Given the description of an element on the screen output the (x, y) to click on. 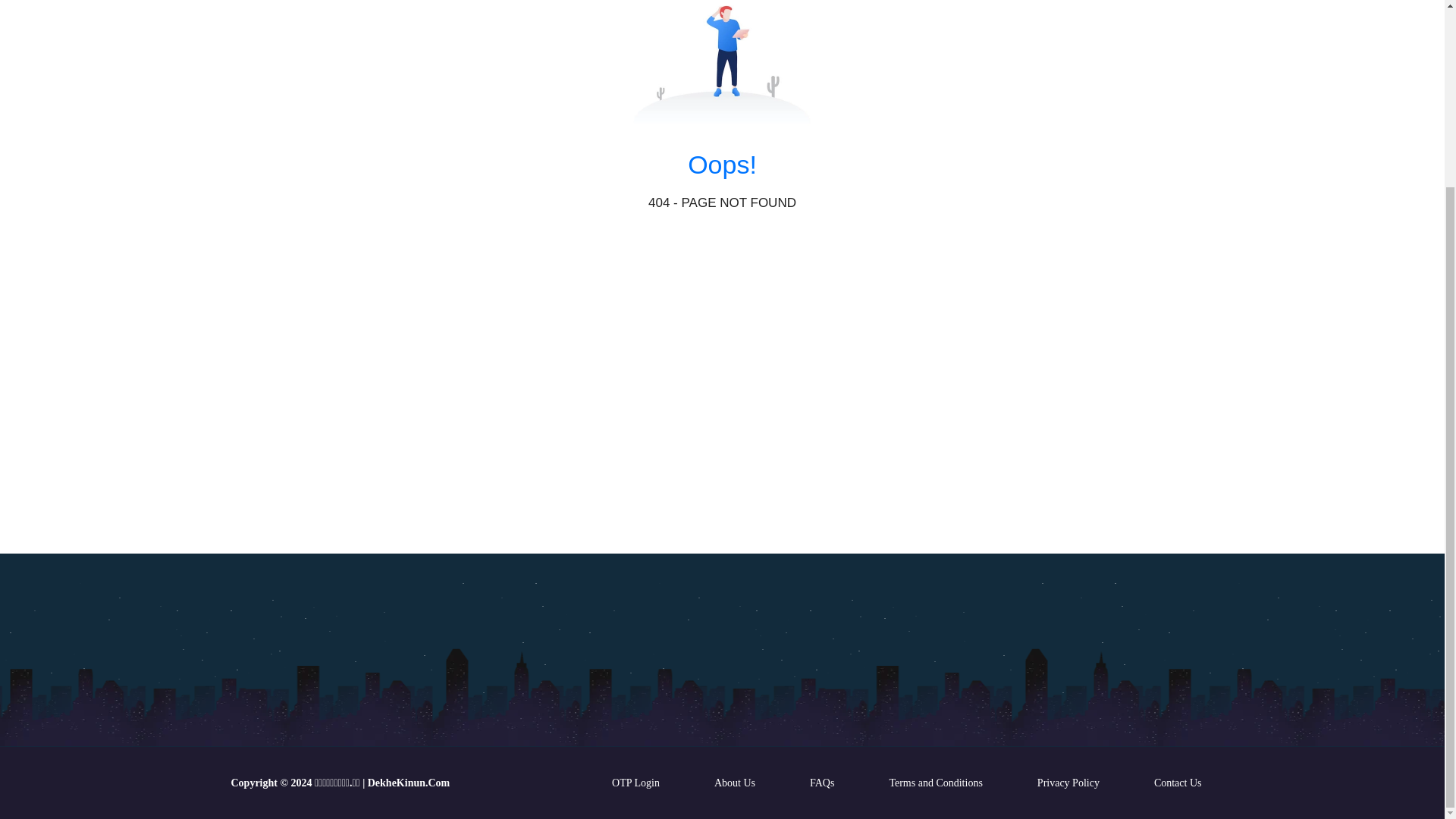
Contact Us (1177, 782)
FAQs (821, 782)
Terms and Conditions (935, 782)
Privacy Policy (1068, 782)
About Us (734, 782)
OTP Login (635, 782)
